Given the description of an element on the screen output the (x, y) to click on. 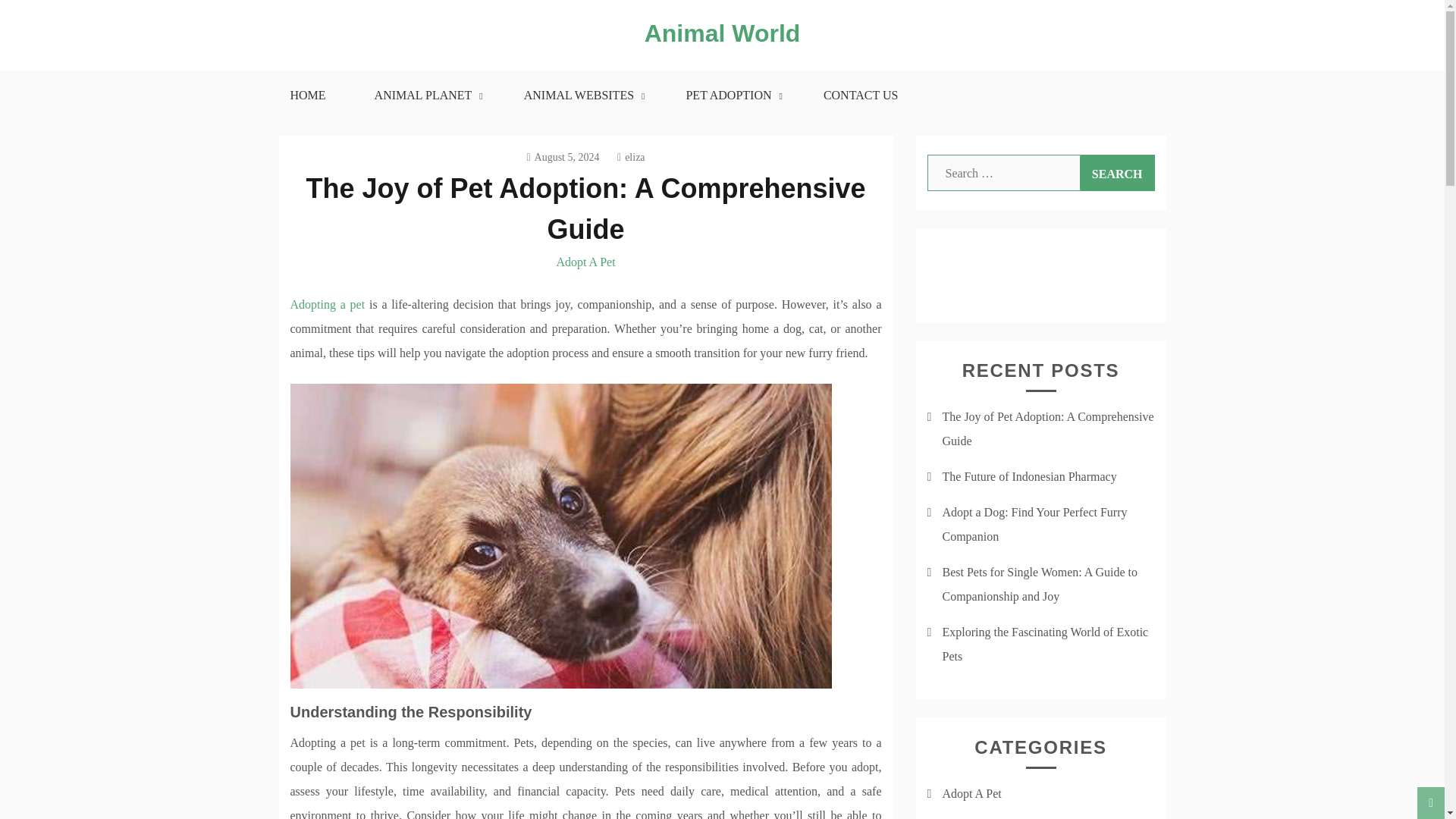
Adopt A Pet (585, 261)
Search (1117, 172)
ANIMAL PLANET (424, 95)
August 5, 2024 (561, 156)
The Joy of Pet Adoption: A Comprehensive Guide (584, 208)
Animal World (722, 32)
eliza (631, 156)
ANIMAL WEBSITES (580, 95)
Search (1117, 172)
Adopting a pet (327, 304)
